Given the description of an element on the screen output the (x, y) to click on. 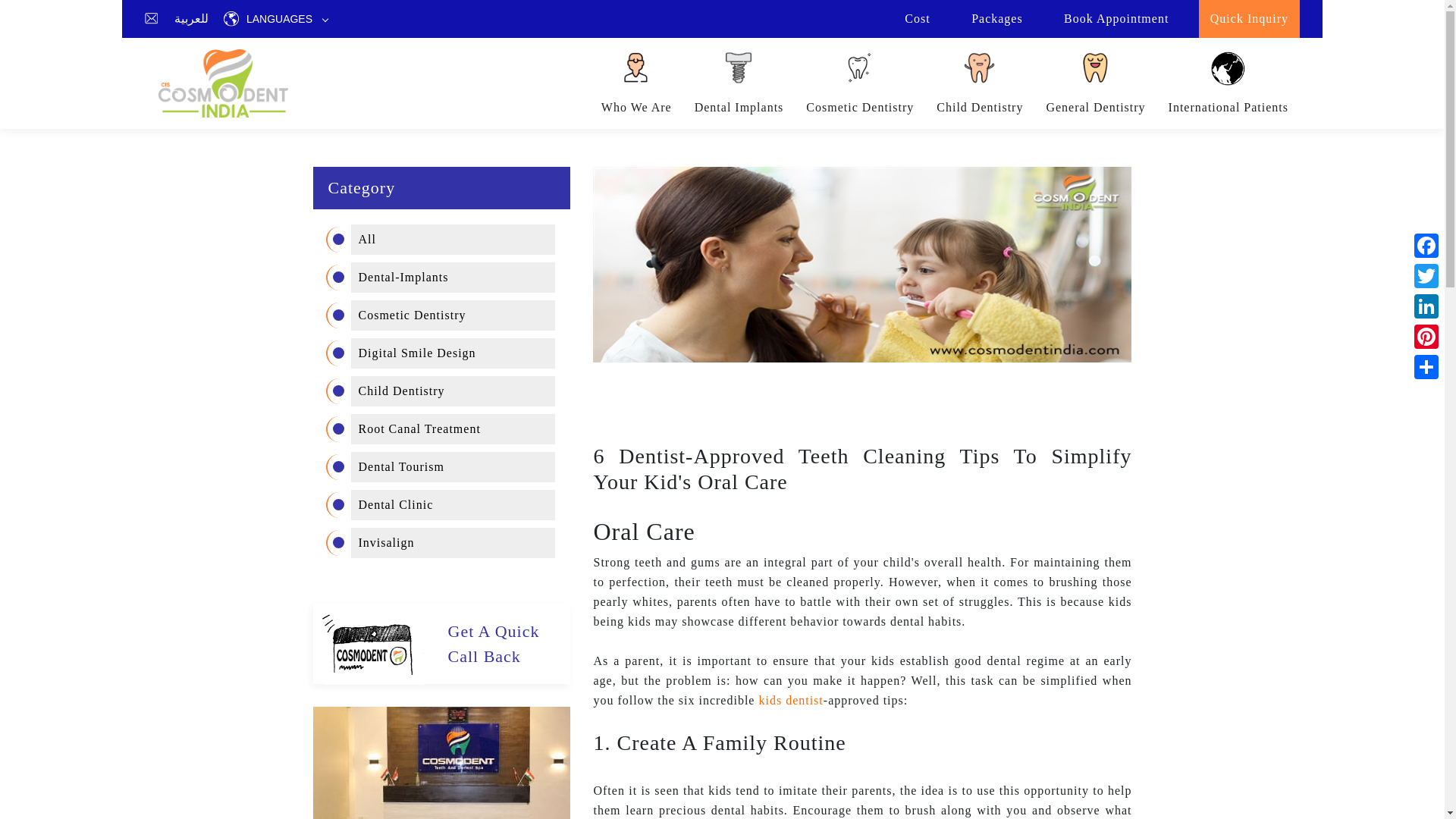
Dental Implants (738, 82)
Packages (996, 19)
Cost (916, 19)
Quick Inquiry (1249, 19)
International Patients (1238, 78)
General Dentistry (1106, 78)
Dental Implants (748, 78)
Who We Are (635, 82)
Child Dentistry (989, 78)
6 Dentist-Approved Teeth Cleaning Tips To Simplify Your Kid (861, 264)
Cosmetic Dentistry (870, 78)
